Given the description of an element on the screen output the (x, y) to click on. 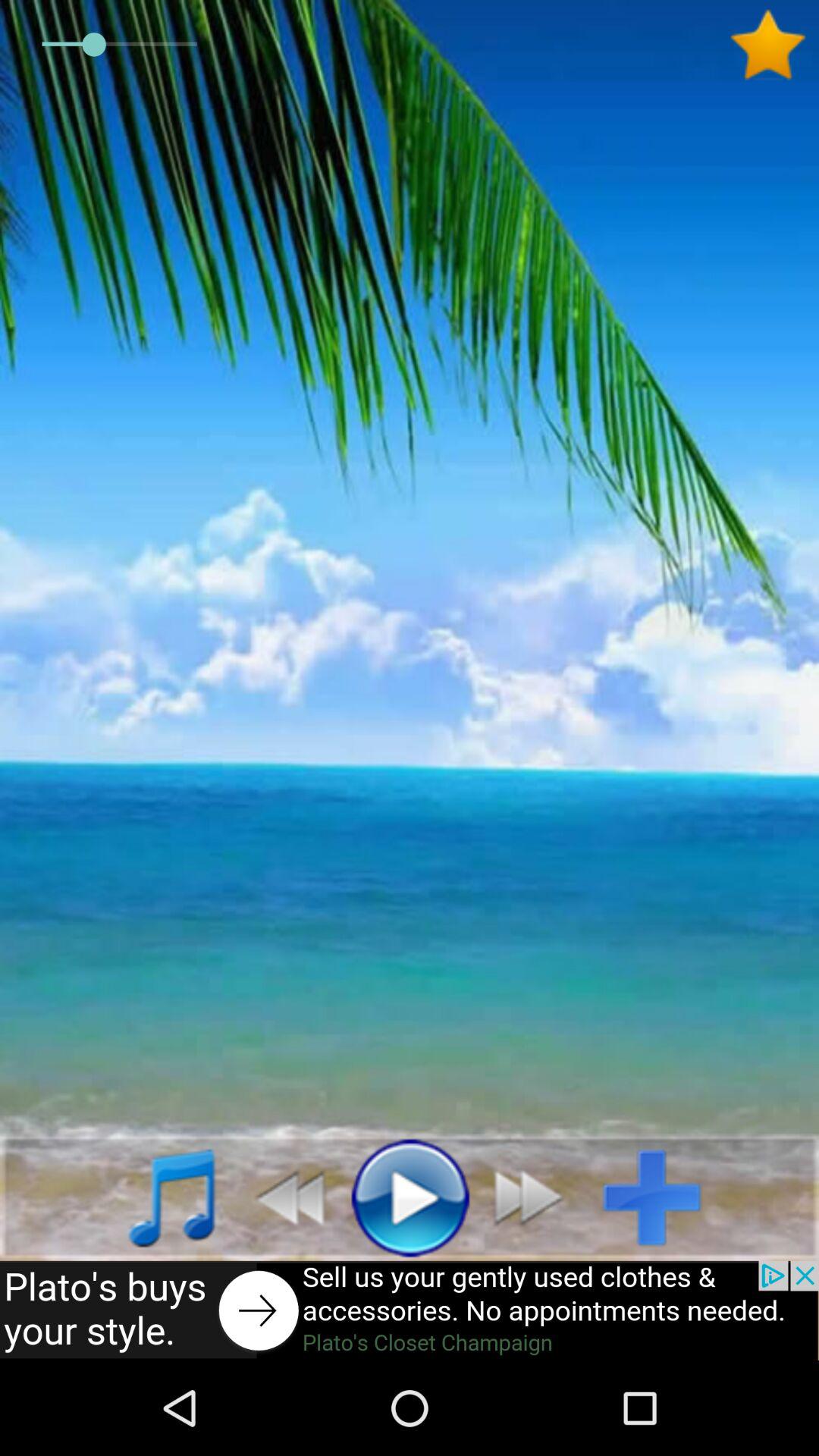
select the pause option (409, 1196)
